Given the description of an element on the screen output the (x, y) to click on. 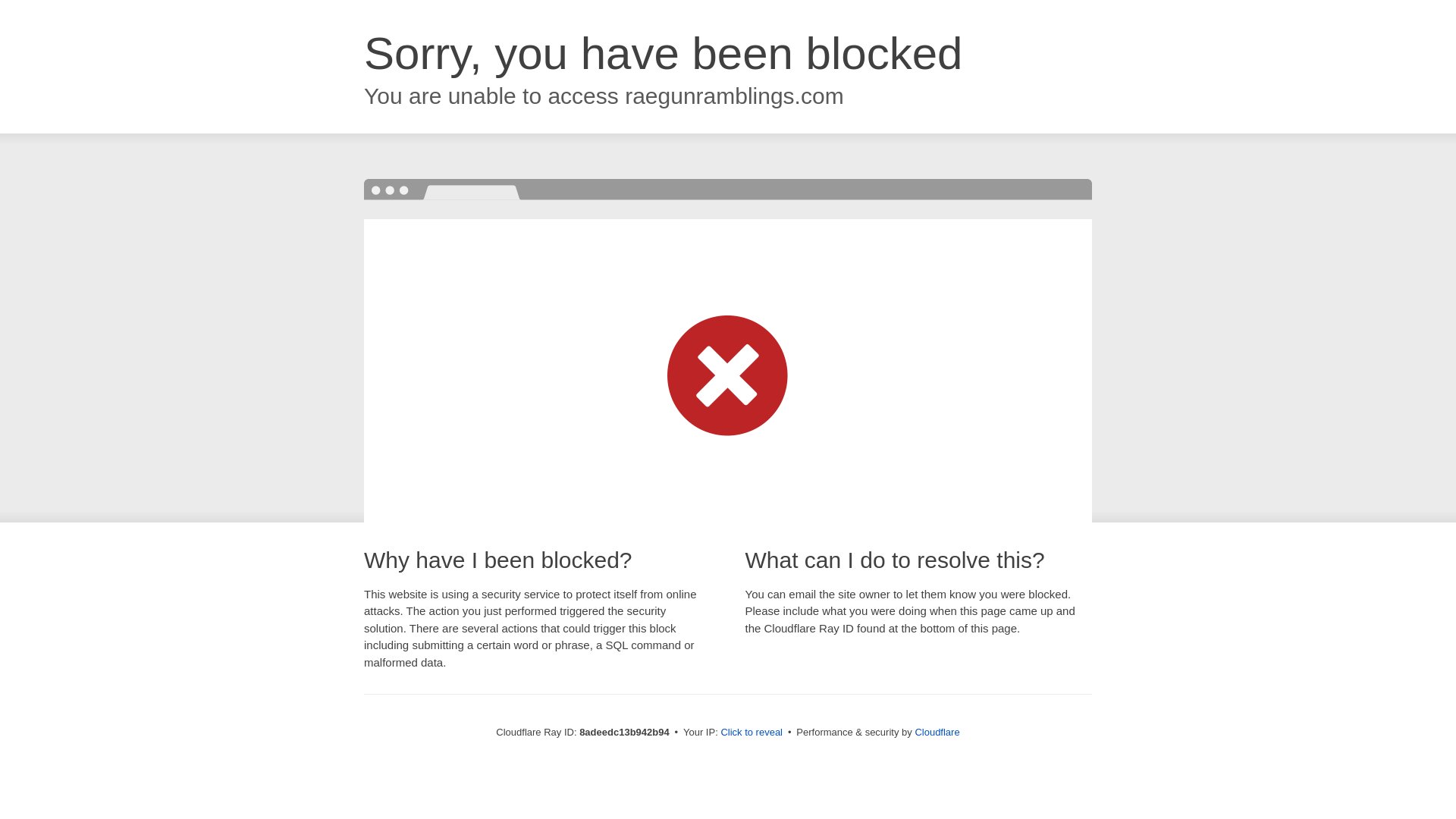
Click to reveal (751, 732)
Cloudflare (936, 731)
